Given the description of an element on the screen output the (x, y) to click on. 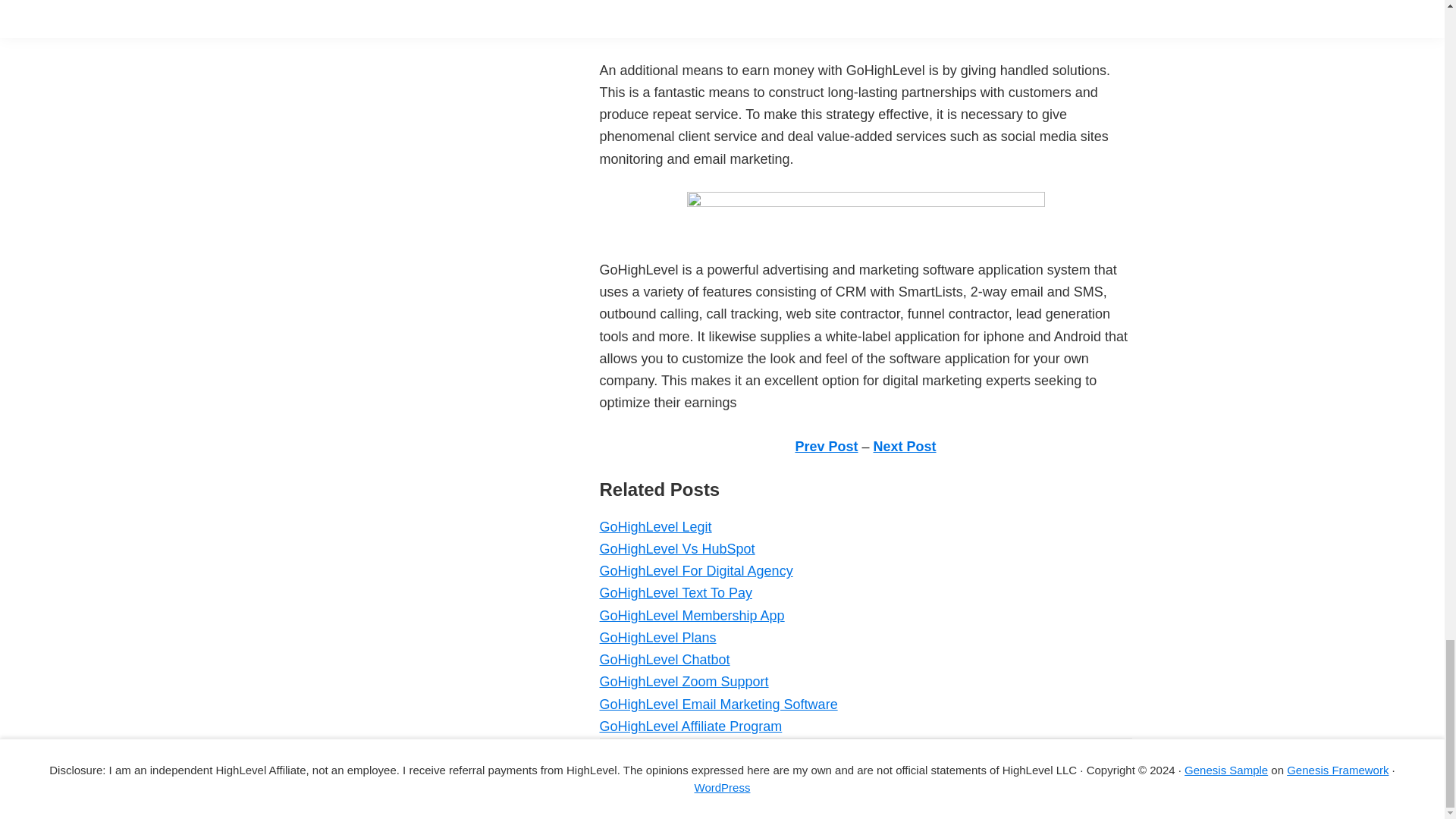
GoHighLevel Membership App (691, 615)
GoHighLevel Vs HubSpot (676, 548)
GoHighLevel Legit (654, 526)
GoHighLevel For Digital Agency (695, 570)
GoHighLevel Chatbot (663, 659)
GoHighLevel Plans (657, 637)
GoHighLevel Affiliate Program (689, 726)
GoHighLevel Legit (654, 526)
Next Post (904, 446)
GoHighLevel Zoom Support (683, 681)
